Given the description of an element on the screen output the (x, y) to click on. 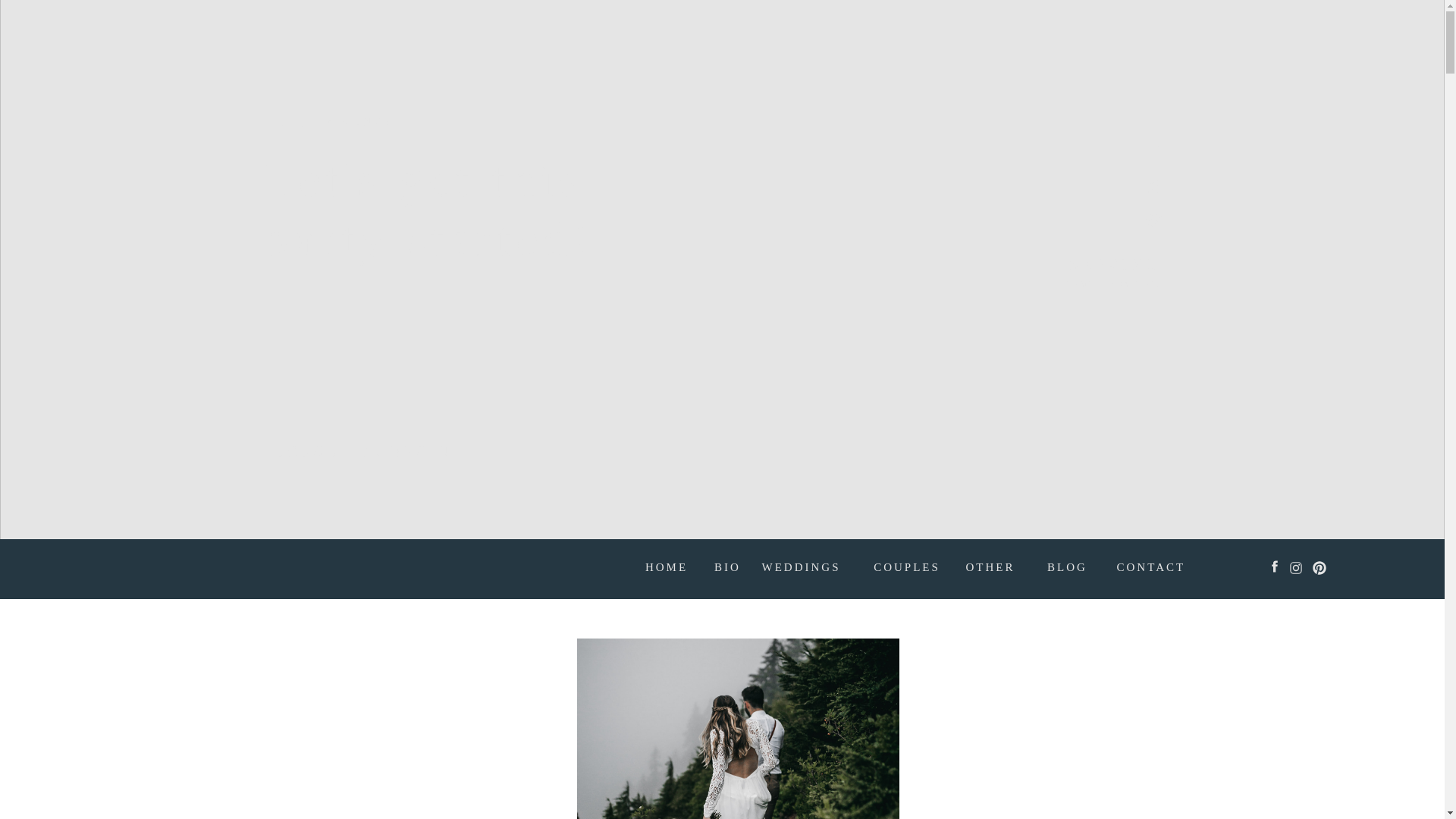
WEDDINGS (794, 569)
BIO (726, 569)
Should I Elope? (737, 728)
BLOG (1066, 569)
CONTACT (1148, 569)
HOME (666, 569)
COUPLES (907, 569)
OTHER (990, 569)
